Given the description of an element on the screen output the (x, y) to click on. 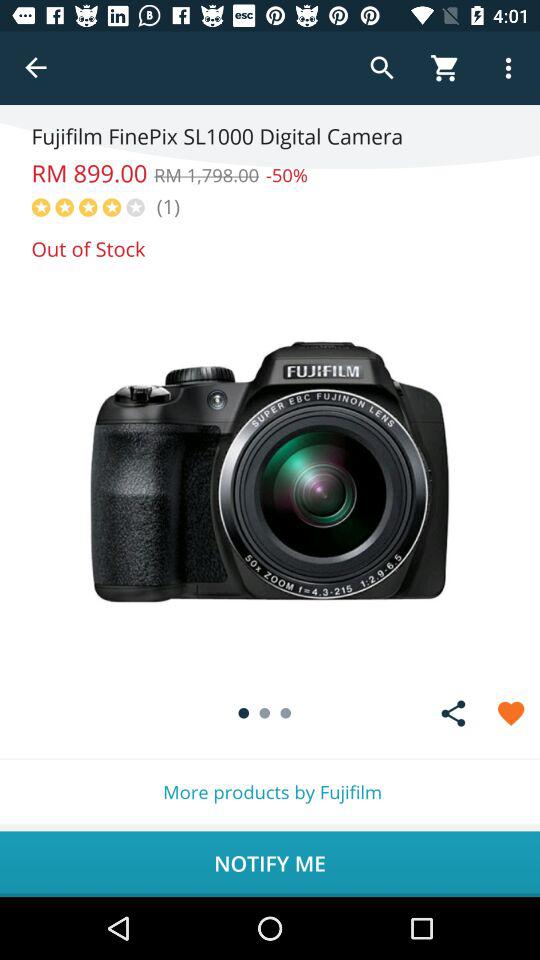
click on the icon which is next to the share icon (511, 712)
